Given the description of an element on the screen output the (x, y) to click on. 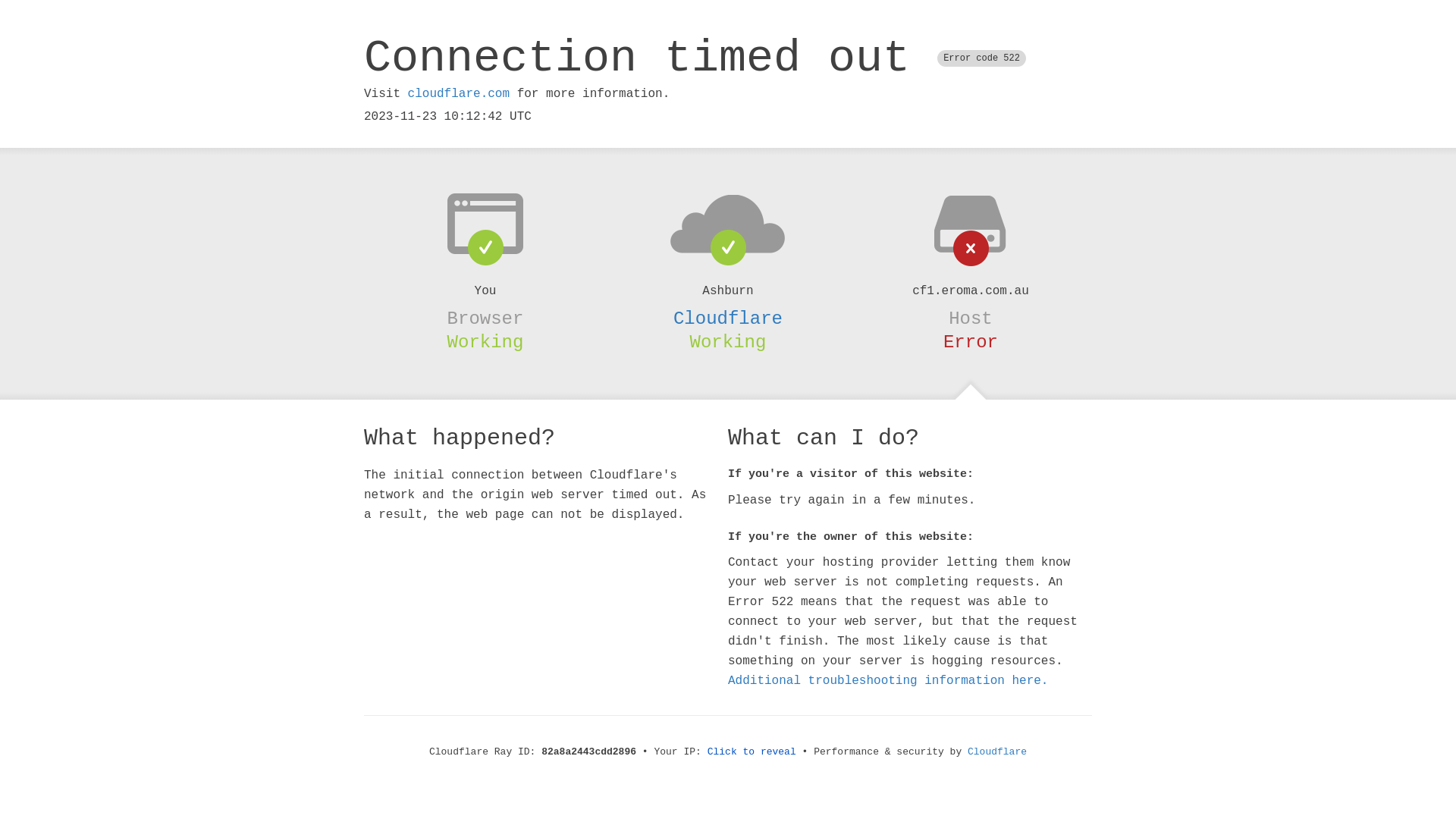
Click to reveal Element type: text (751, 751)
Additional troubleshooting information here. Element type: text (888, 680)
cloudflare.com Element type: text (458, 93)
Cloudflare Element type: text (727, 318)
Cloudflare Element type: text (996, 751)
